Given the description of an element on the screen output the (x, y) to click on. 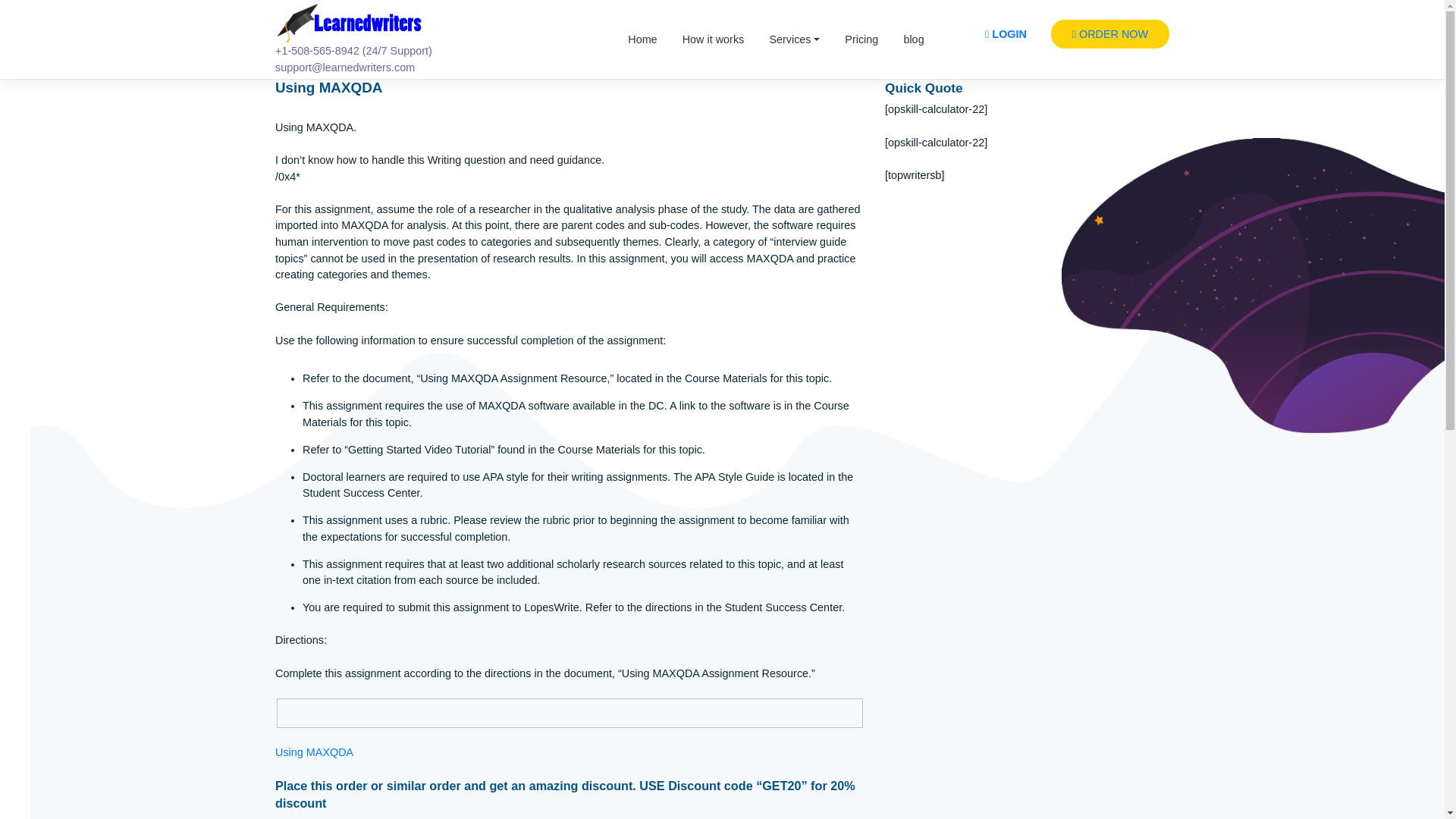
ORDER NOW (1233, 37)
LOGIN (1117, 37)
How it works (792, 43)
ORDER NOW (1233, 37)
Pricing (957, 43)
Services (882, 43)
LOGIN (1117, 37)
How it works (792, 43)
Services (882, 43)
Pricing (957, 43)
